Given the description of an element on the screen output the (x, y) to click on. 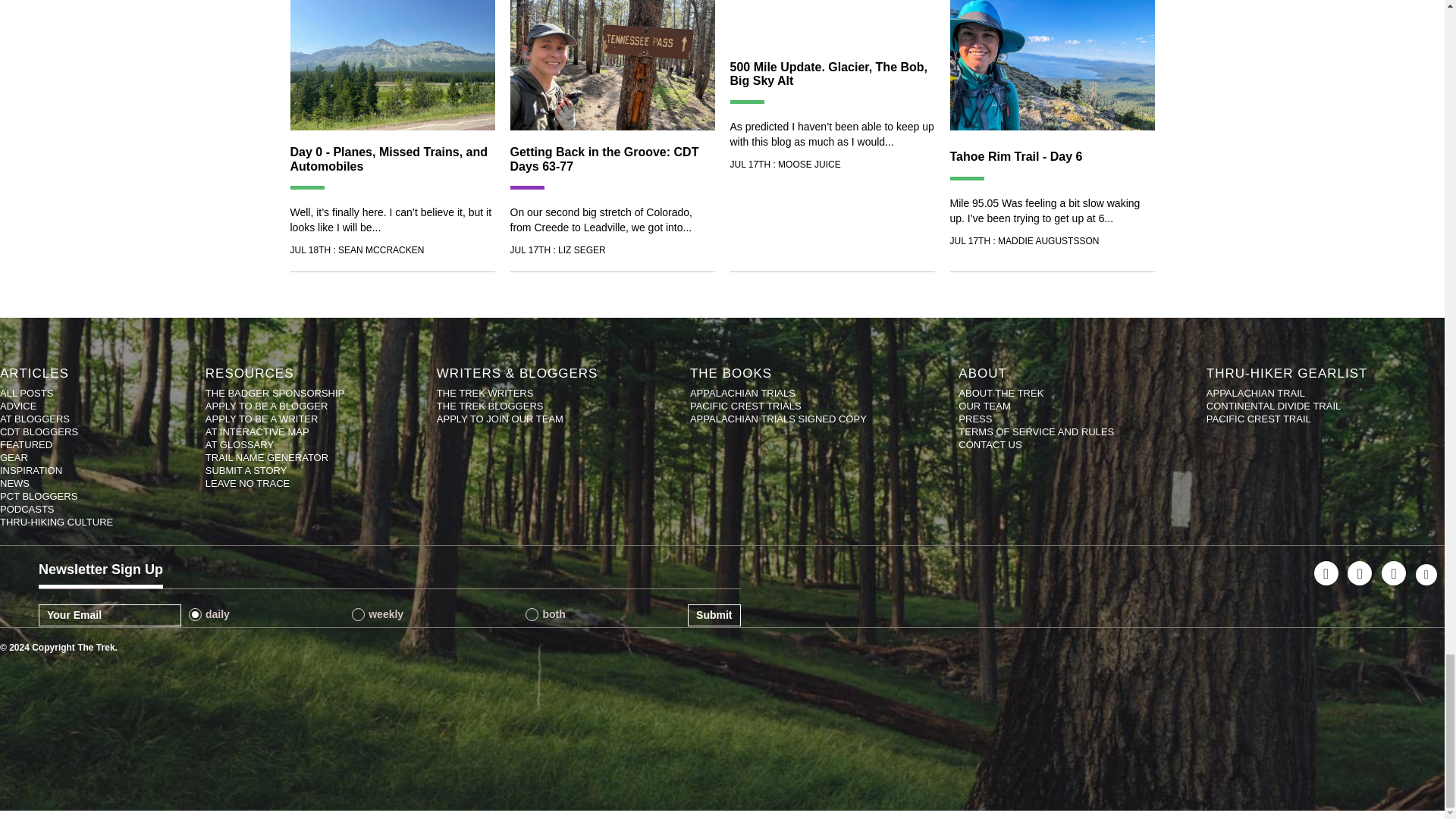
Sign Up (713, 614)
